Given the description of an element on the screen output the (x, y) to click on. 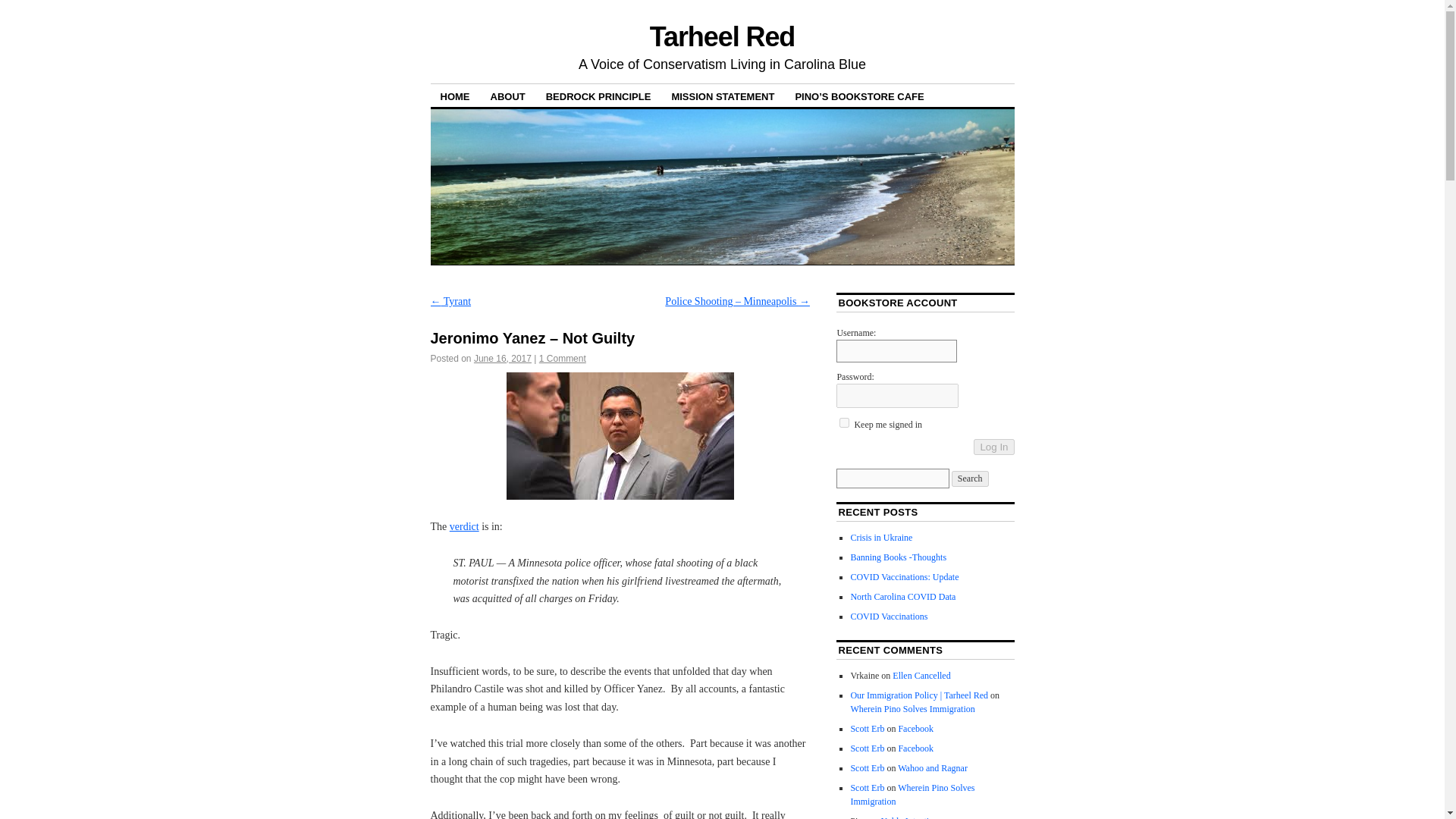
COVID Vaccinations (888, 615)
1 Comment (562, 357)
Tarheel Red (721, 36)
COVID Vaccinations: Update (904, 576)
Wherein Pino Solves Immigration (912, 708)
Crisis in Ukraine (881, 537)
verdict (464, 526)
Scott Erb (866, 747)
5:21 pm (502, 357)
ABOUT (507, 96)
Search (970, 478)
Facebook (915, 728)
Tarheel Red (721, 36)
North Carolina COVID Data (902, 596)
HOME (455, 96)
